Given the description of an element on the screen output the (x, y) to click on. 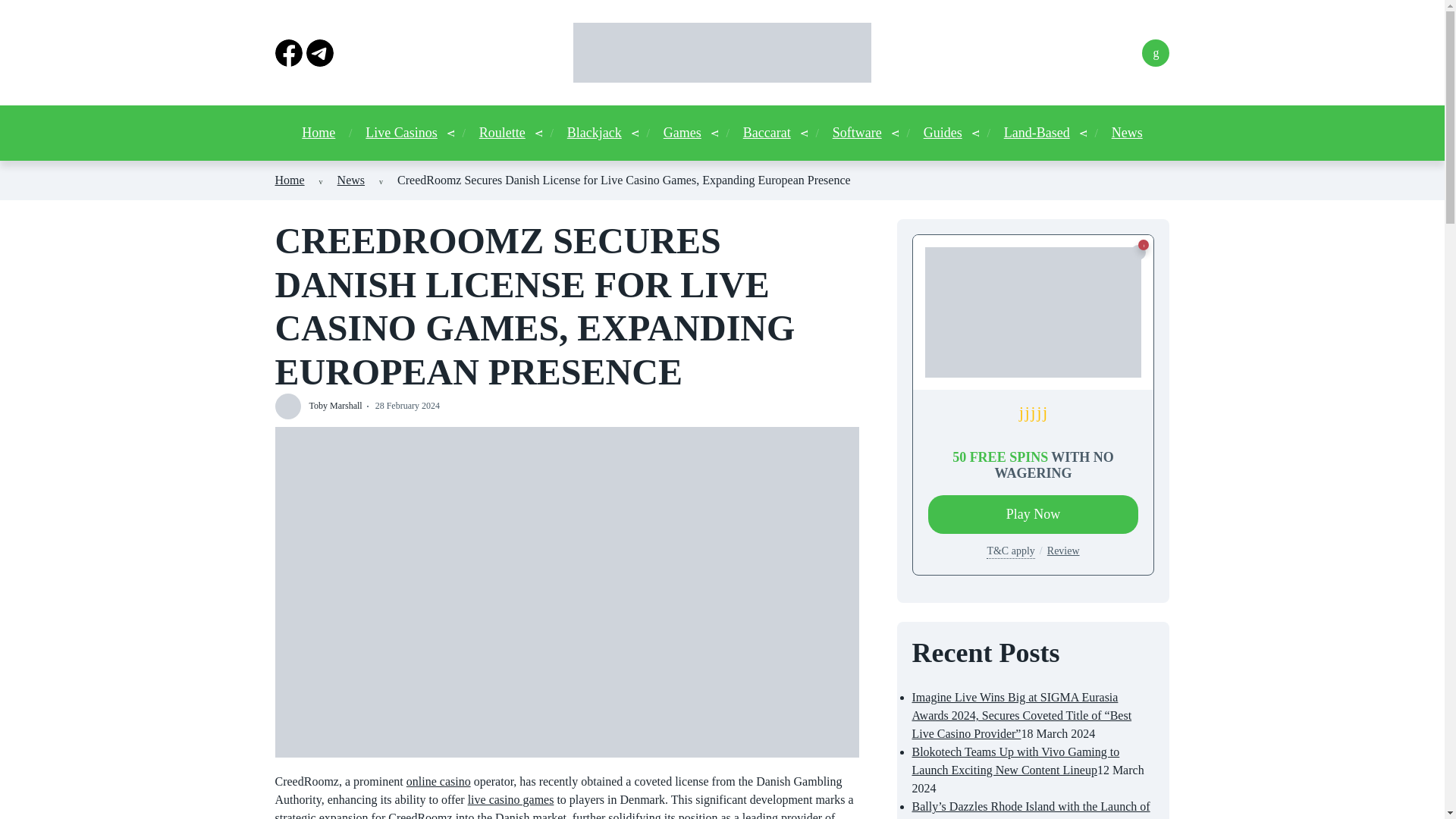
Home (289, 179)
Roulette (502, 132)
Live Casinos (401, 132)
This Post is not available on Singapore (1138, 252)
News (351, 179)
Home (317, 132)
